Given the description of an element on the screen output the (x, y) to click on. 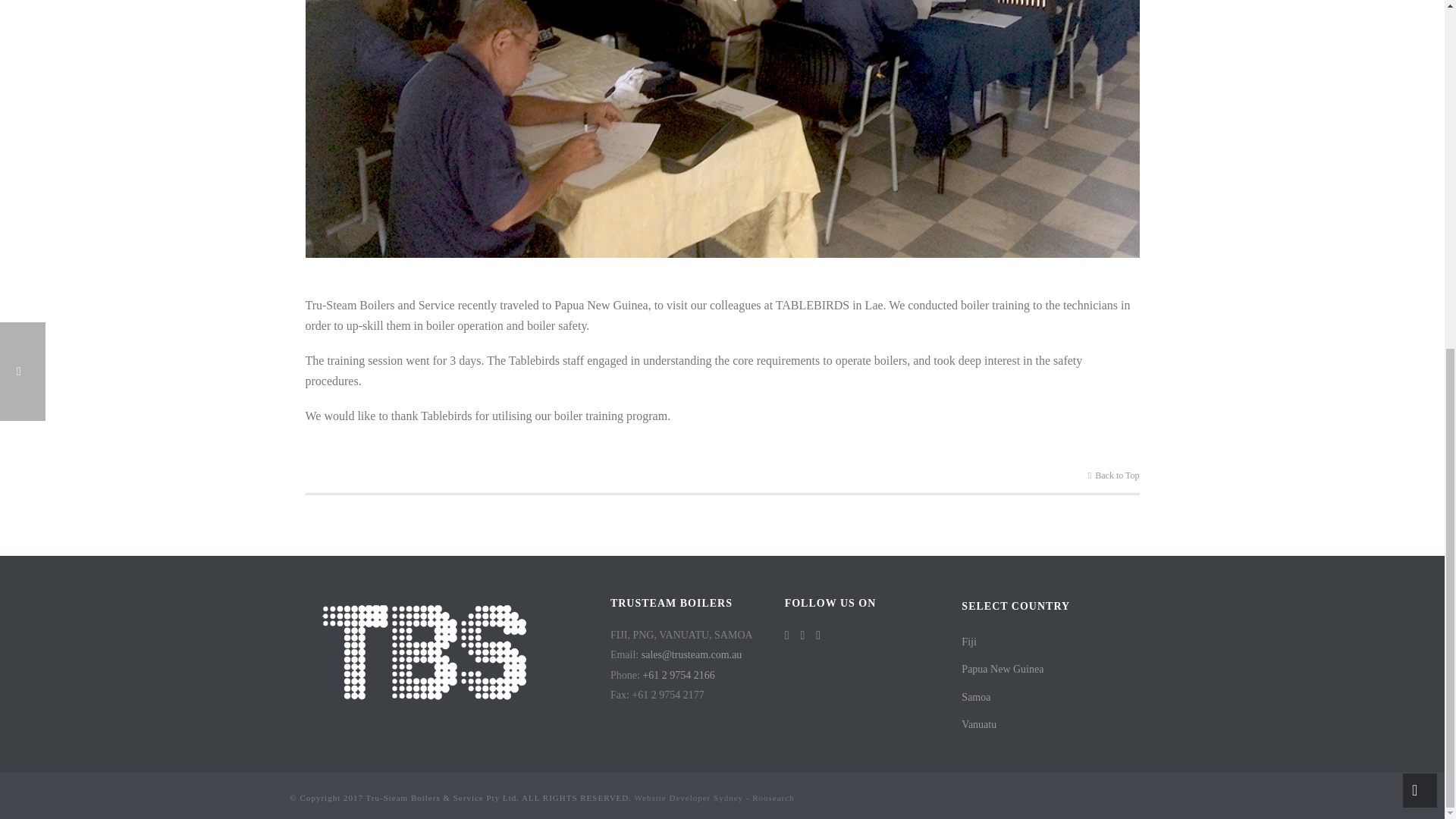
Fiji (1034, 642)
Vanuatu (1034, 725)
Website Developer Sydney - Roosearch (714, 797)
Samoa (1034, 697)
Follow Us on facebook (786, 635)
Back to Top (1113, 475)
Follow Us on googleplus (802, 635)
Papua New Guinea (1034, 669)
Follow Us on linkedin (818, 635)
